Given the description of an element on the screen output the (x, y) to click on. 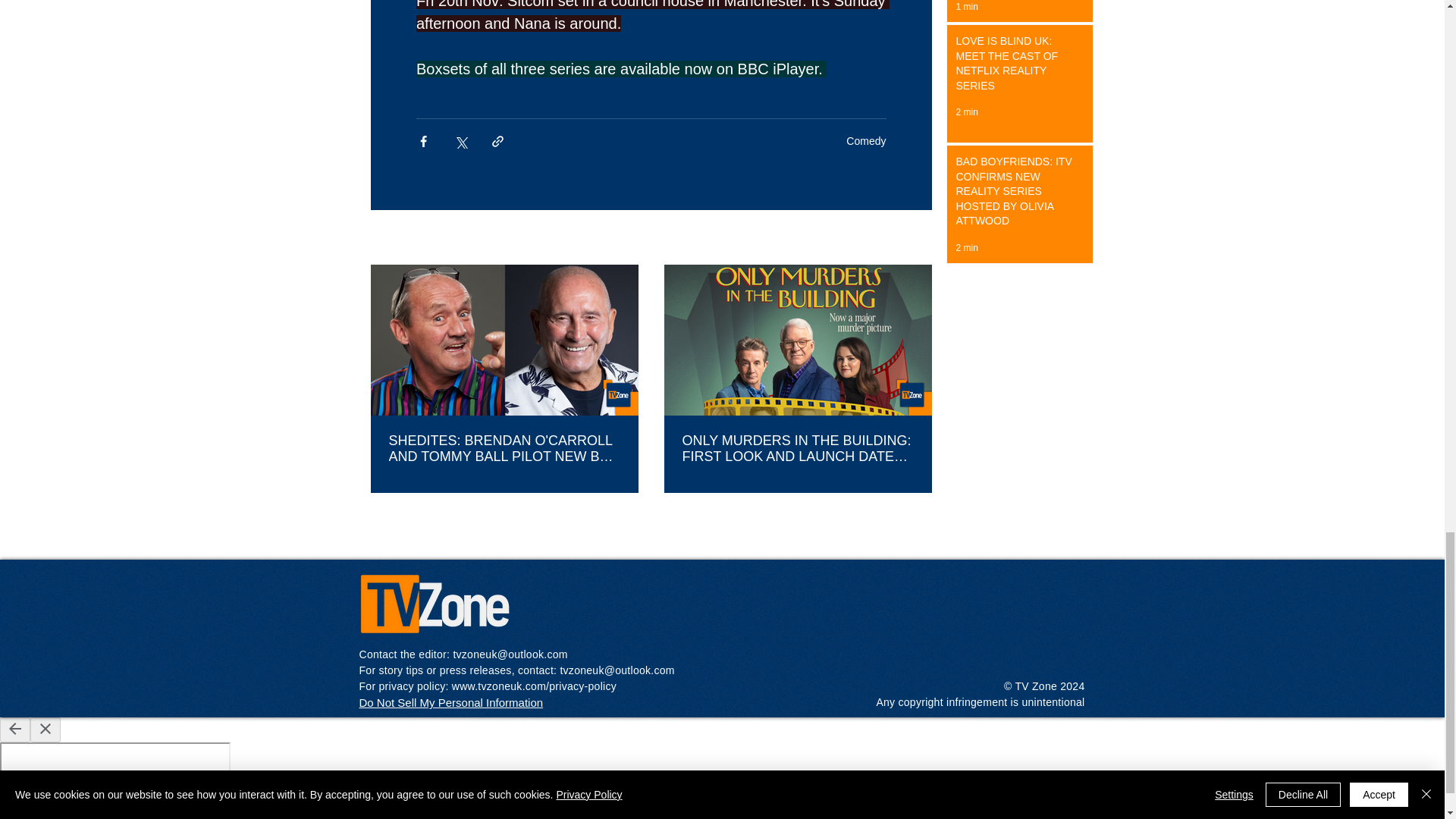
1 min (965, 6)
Comedy (865, 141)
2 min (965, 247)
See All (914, 238)
LOVE IS BLIND UK: MEET THE CAST OF NETFLIX REALITY SERIES (1014, 66)
2 min (965, 112)
